Given the description of an element on the screen output the (x, y) to click on. 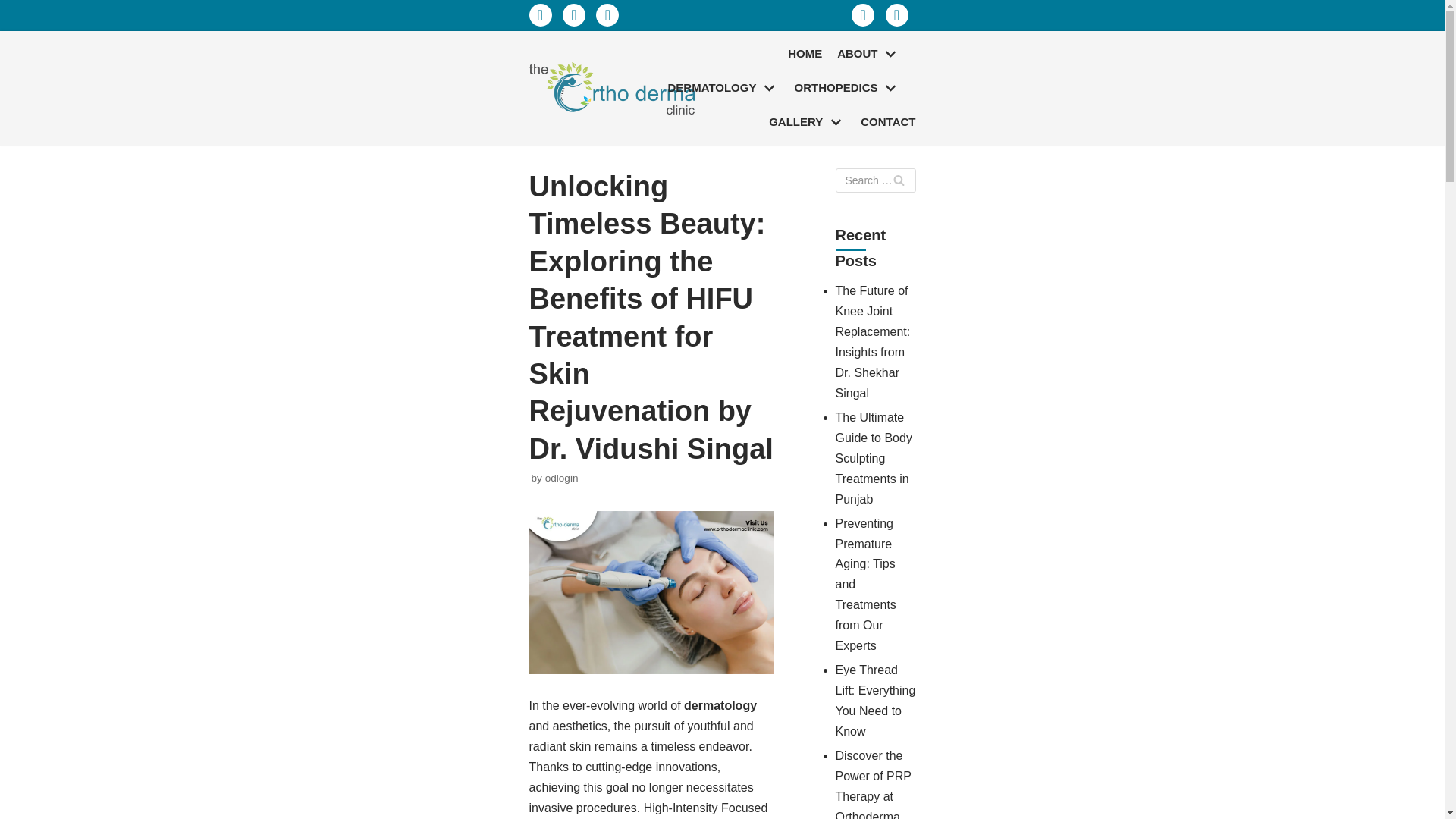
Orthodermaclinic (616, 88)
DERMATOLOGY (723, 87)
ORTHOPEDICS (846, 87)
ABOUT (868, 54)
Skip to content (15, 31)
Posts by odlogin (561, 478)
Search (897, 180)
Search (897, 180)
HOME (804, 54)
